Given the description of an element on the screen output the (x, y) to click on. 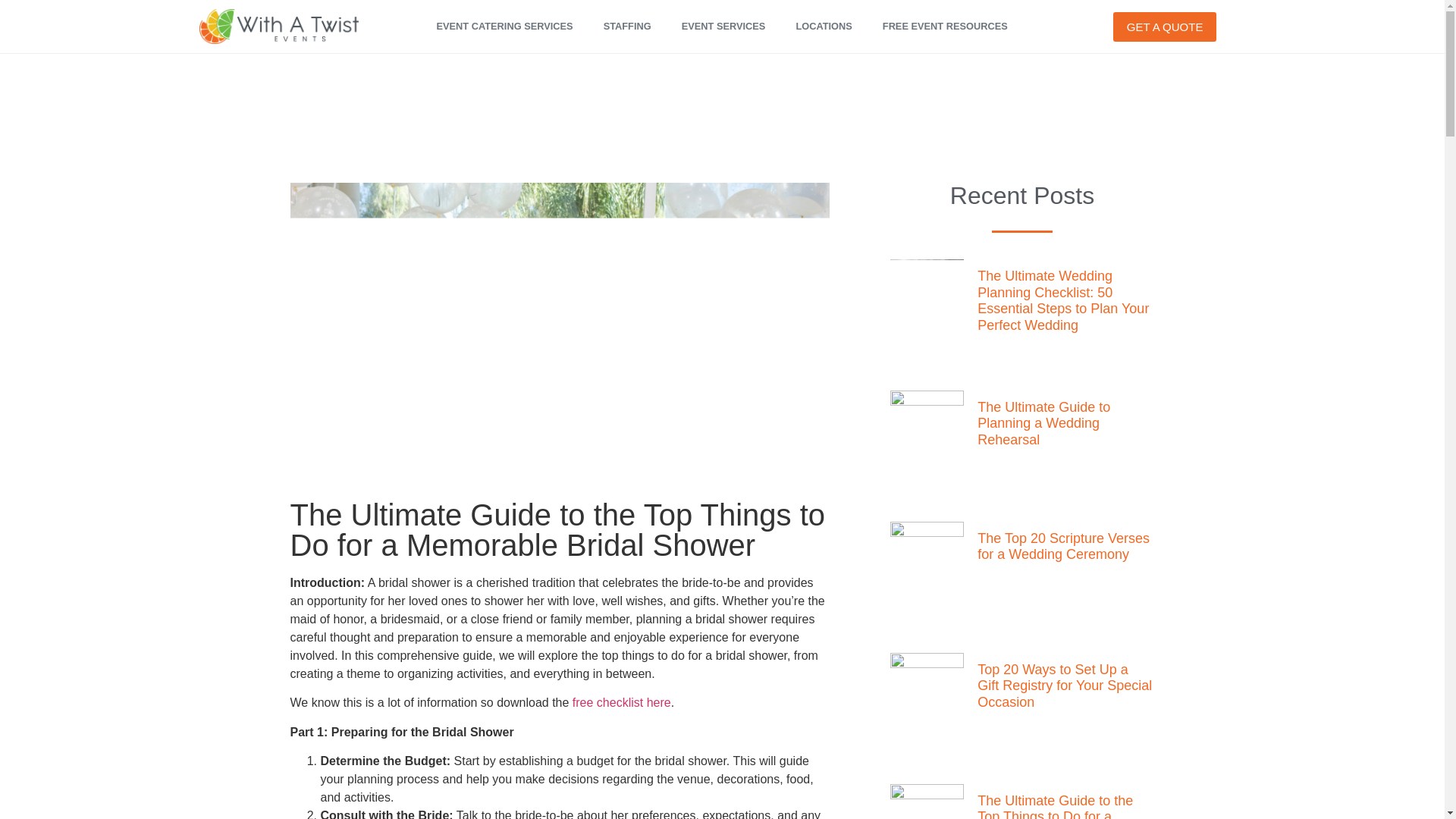
LOCATIONS (823, 26)
STAFFING (627, 26)
GET A QUOTE (1165, 26)
free checklist here (621, 702)
Event Staffing Services (627, 26)
FREE EVENT RESOURCES (945, 26)
The Ultimate Guide to Planning a Wedding Rehearsal (1042, 423)
